Given the description of an element on the screen output the (x, y) to click on. 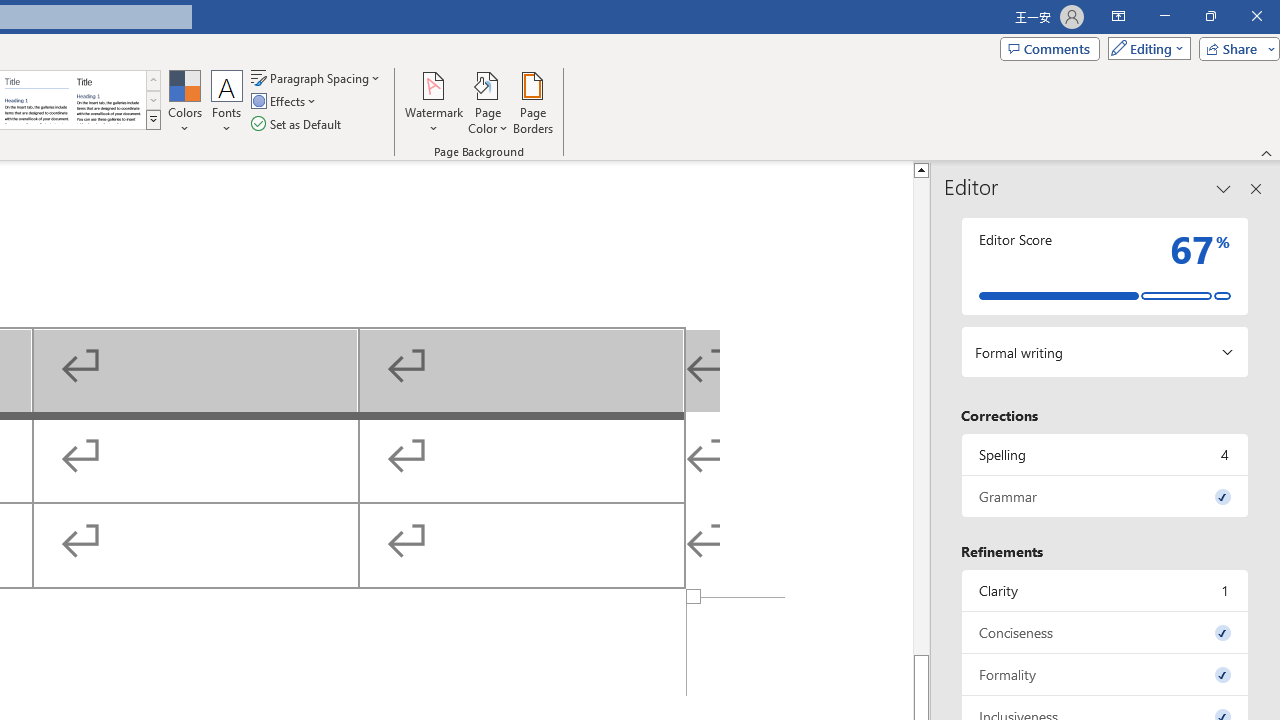
Formality, 0 issues. Press space or enter to review items. (1105, 673)
